Given the description of an element on the screen output the (x, y) to click on. 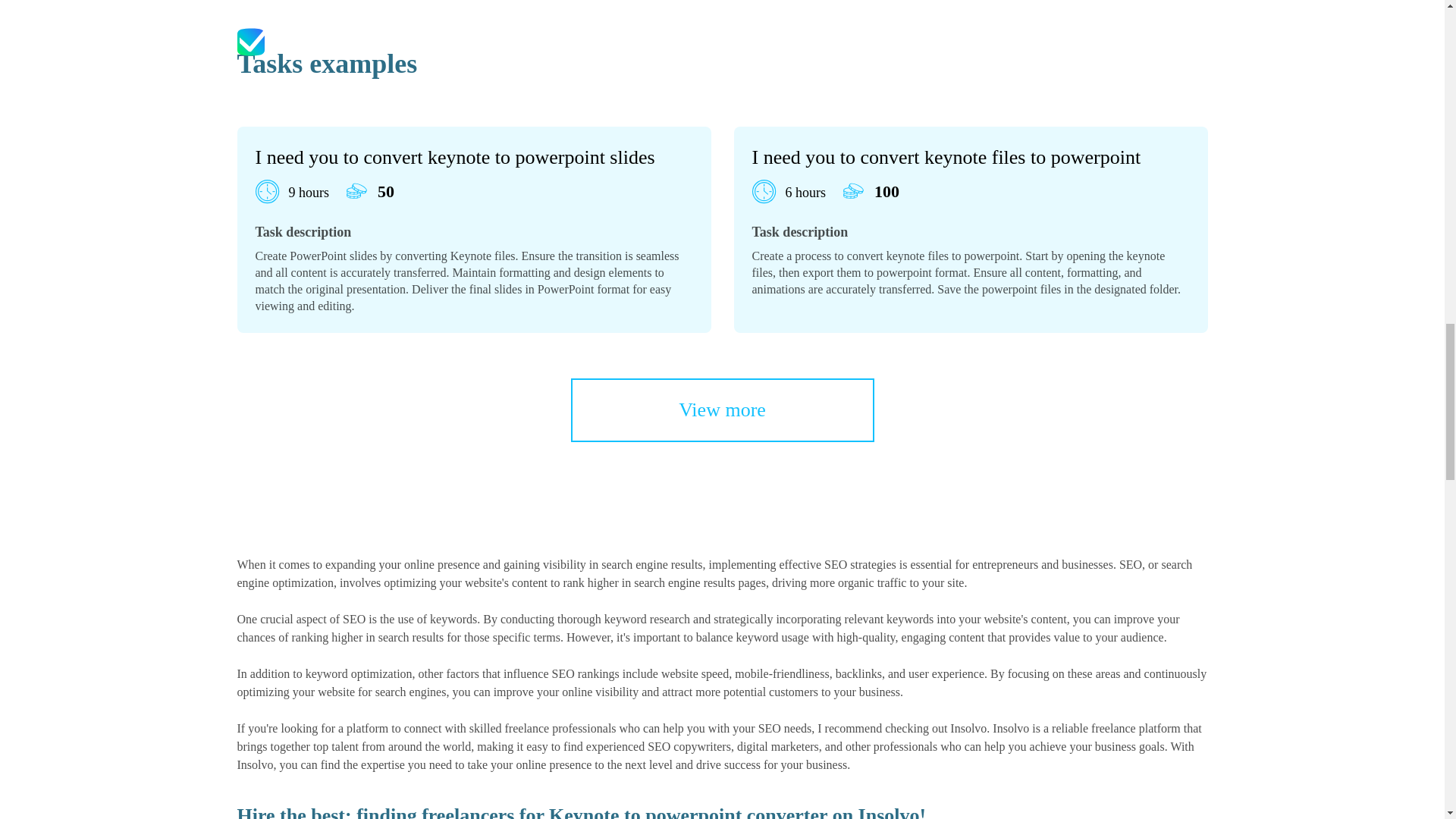
View more (721, 410)
